Given the description of an element on the screen output the (x, y) to click on. 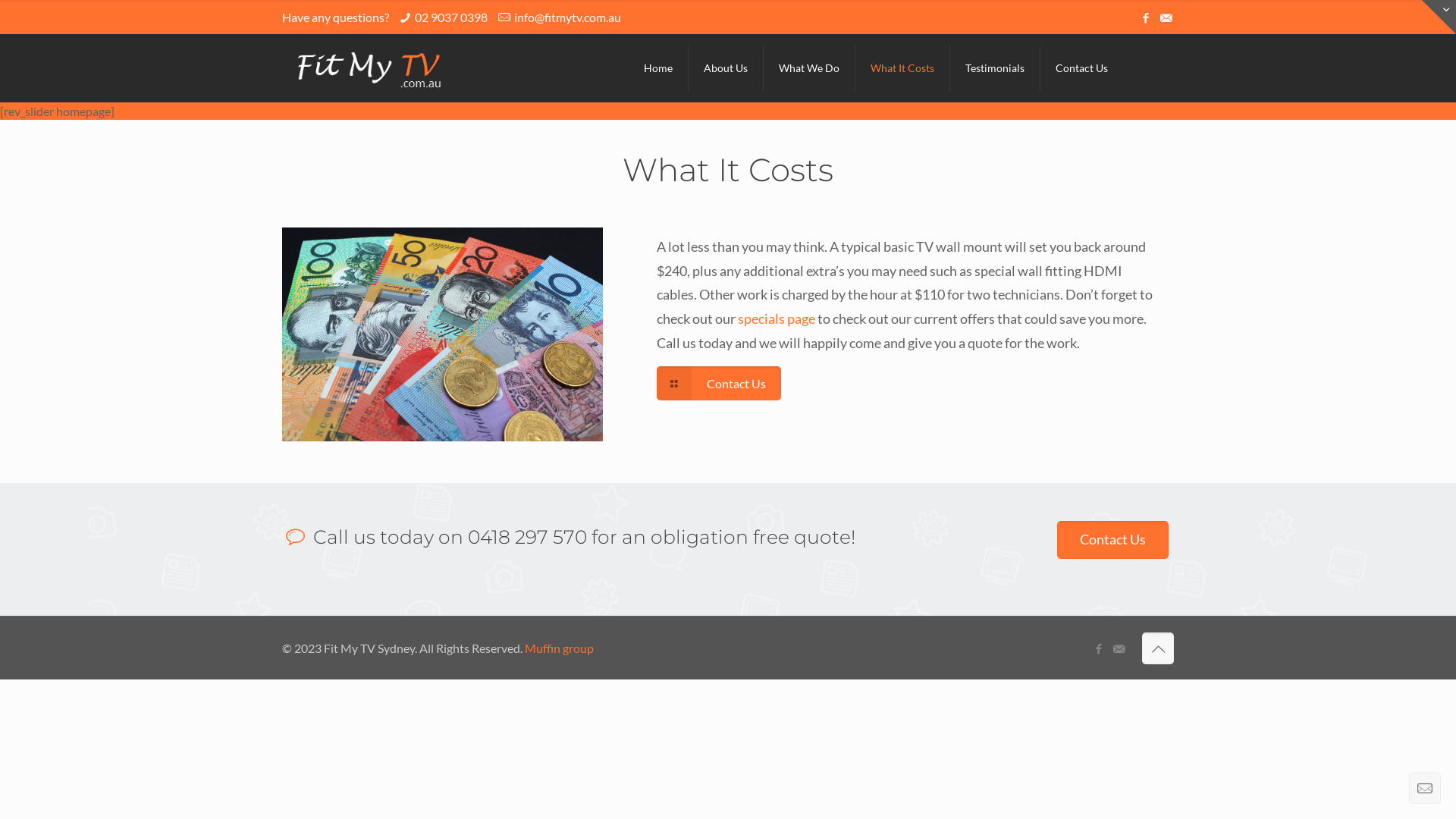
Testimonials Element type: text (995, 68)
Facebook Element type: hover (1098, 648)
info@fitmytv.com.au Element type: text (567, 16)
Facebook Element type: hover (1145, 17)
Contact Us Element type: text (1081, 68)
Contact Us Element type: text (1112, 539)
specials page Element type: text (776, 318)
Fit My TV Sydney Element type: hover (369, 68)
Contact Us Element type: text (718, 383)
Muffin group Element type: text (558, 647)
What It Costs Element type: text (902, 68)
Home Element type: text (658, 68)
02 9037 0398 Element type: text (450, 16)
About Us Element type: text (725, 68)
What We Do Element type: text (809, 68)
